Given the description of an element on the screen output the (x, y) to click on. 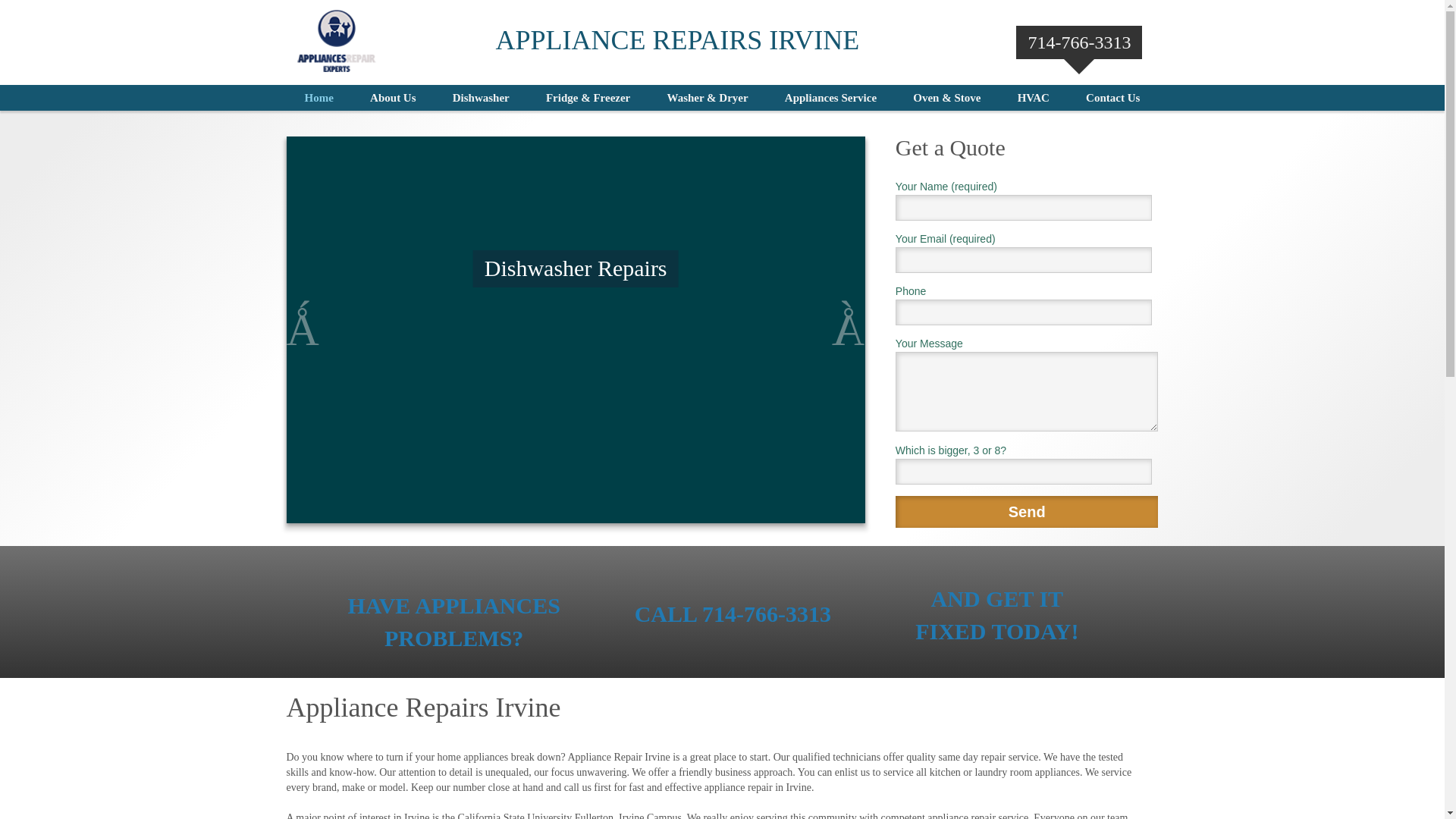
Send (1026, 512)
714-766-3313 (1079, 42)
